Given the description of an element on the screen output the (x, y) to click on. 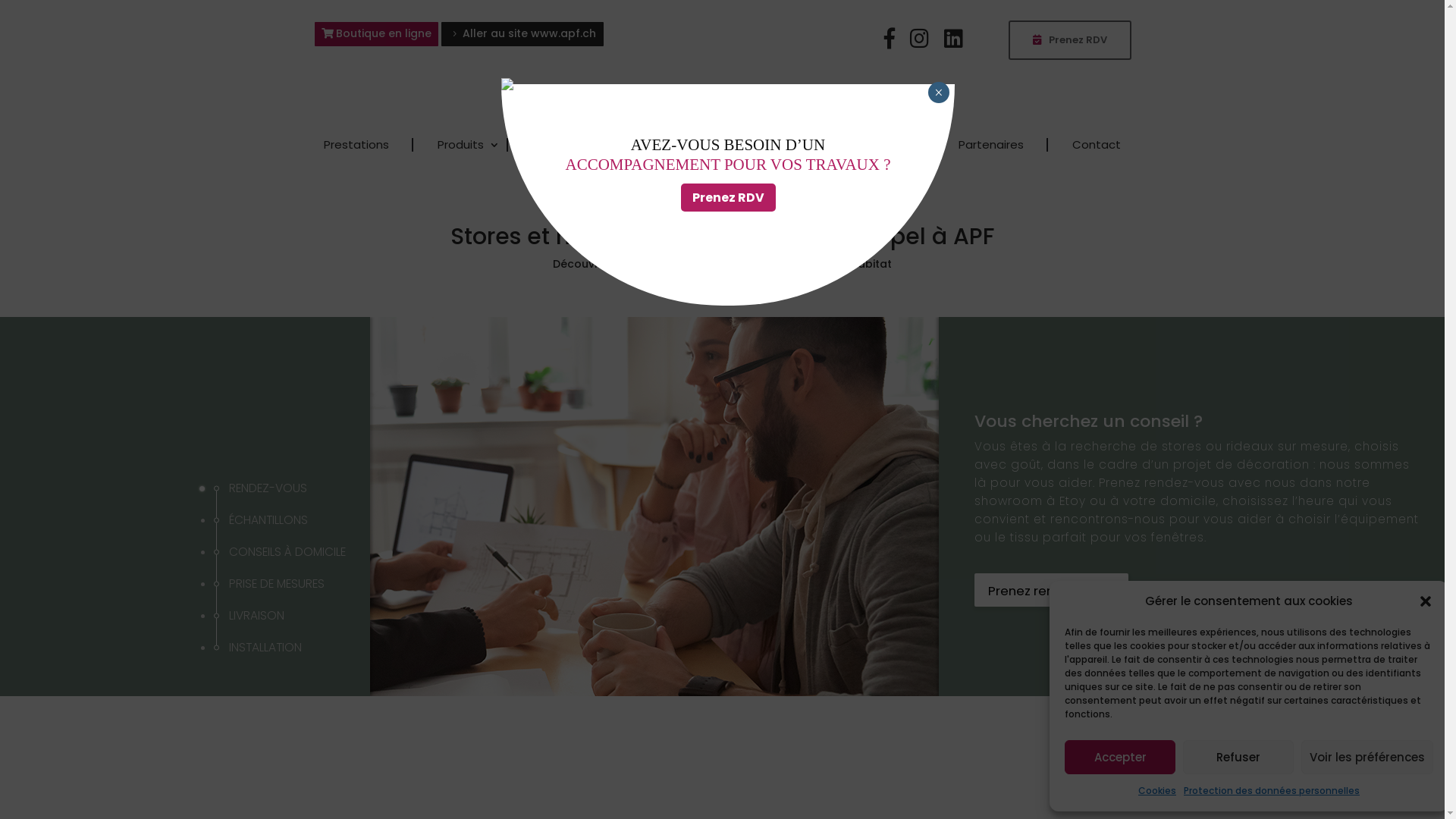
Contact Element type: text (1096, 144)
Accepter Element type: text (1119, 757)
Tarifs Element type: text (893, 144)
Prenez rendez-vous Element type: text (1051, 589)
Cookies Element type: text (1157, 790)
Prenez RDV Element type: text (1069, 39)
Produits Element type: text (460, 144)
Prenez rendez-vous Element type: text (1051, 590)
Menuiserie Element type: text (562, 144)
Boutique en ligne Element type: text (375, 33)
Prestations Element type: text (355, 144)
Partenaires Element type: text (990, 144)
Refuser Element type: text (1238, 757)
Aller au site www.apf.ch Element type: text (522, 33)
Prenez RDV Element type: text (727, 197)
